Given the description of an element on the screen output the (x, y) to click on. 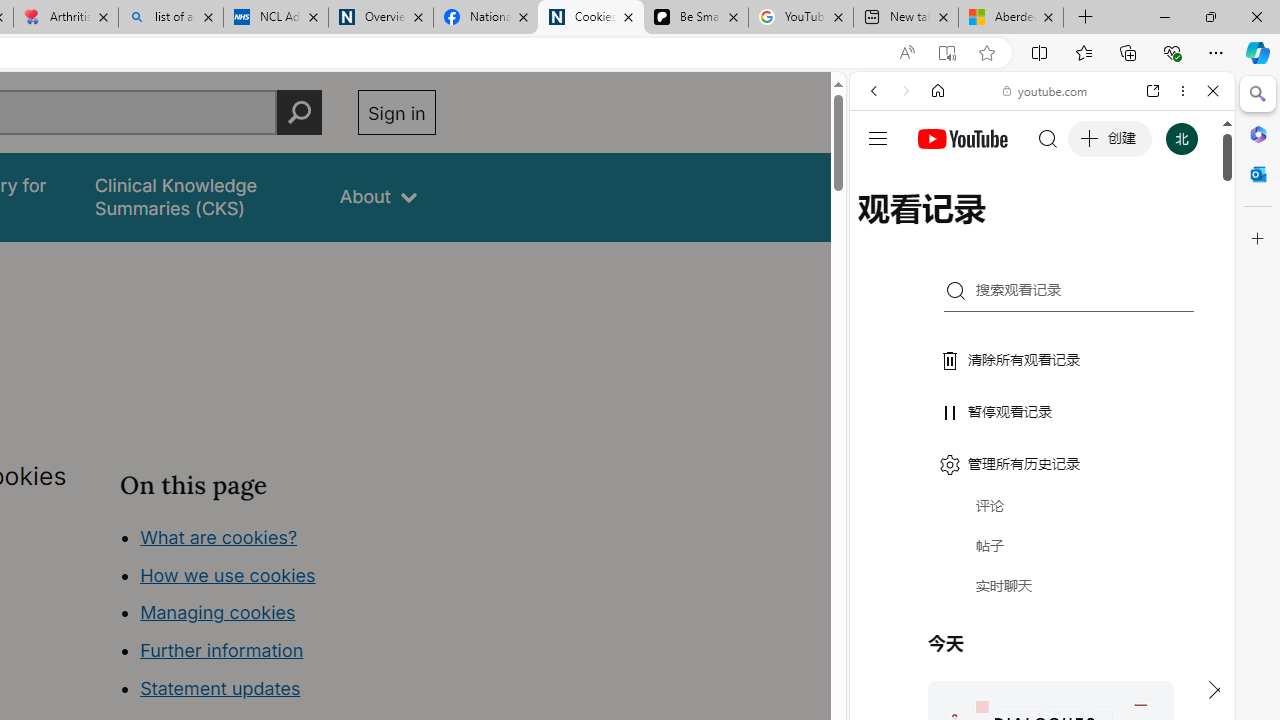
youtube.com (1046, 90)
Trailer #2 [HD] (1042, 594)
Sign in (396, 112)
Further information (221, 650)
This site scope (936, 180)
Search Filter, VIDEOS (1006, 228)
VIDEOS (1006, 228)
Close Outlook pane (1258, 174)
Cookies | About | NICE (590, 17)
Perform search (299, 112)
